Given the description of an element on the screen output the (x, y) to click on. 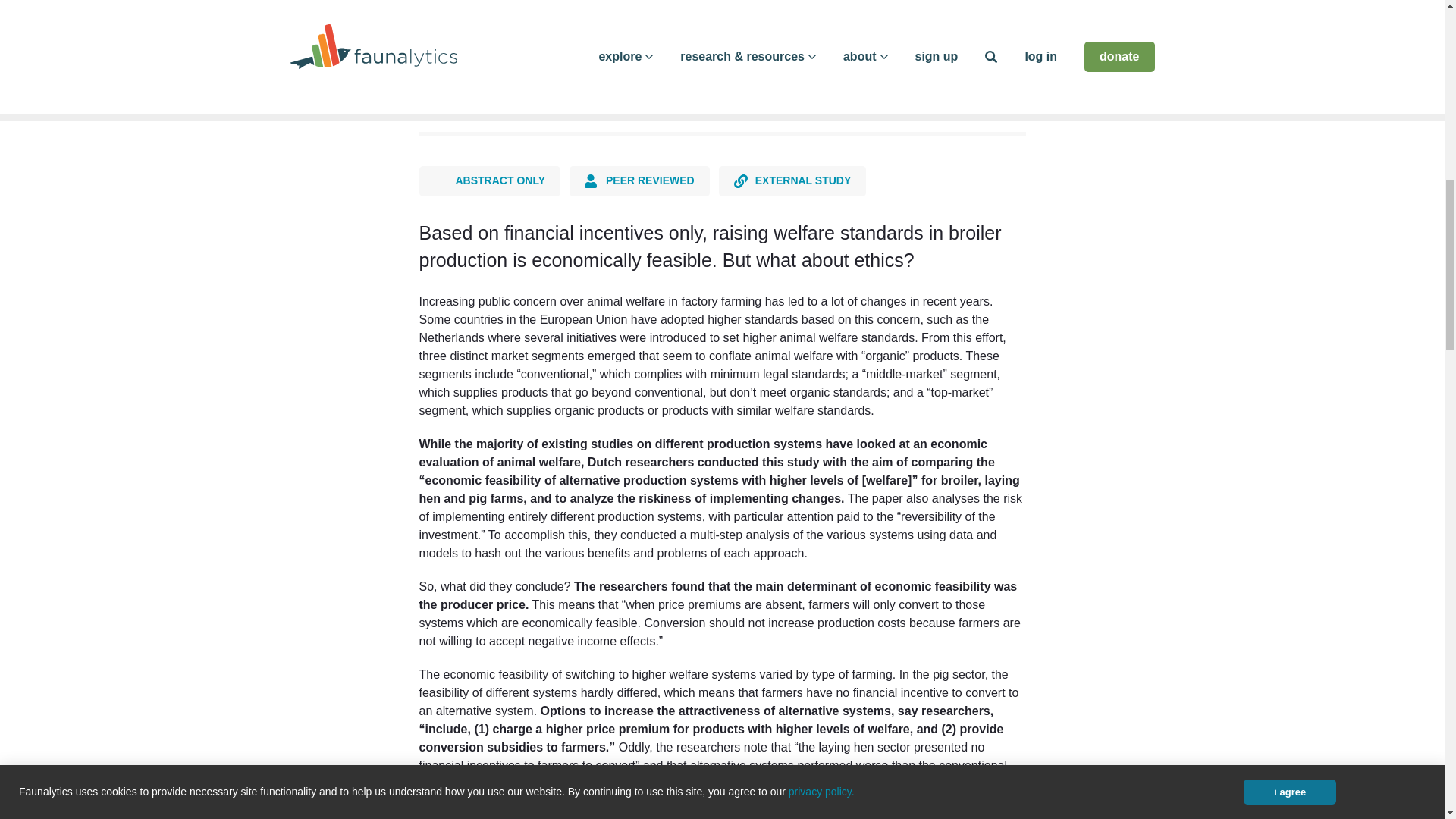
X (483, 78)
Favorite (621, 79)
Facebook (438, 78)
Email (573, 78)
LinkedIn (528, 78)
Save to My Library (684, 78)
